Given the description of an element on the screen output the (x, y) to click on. 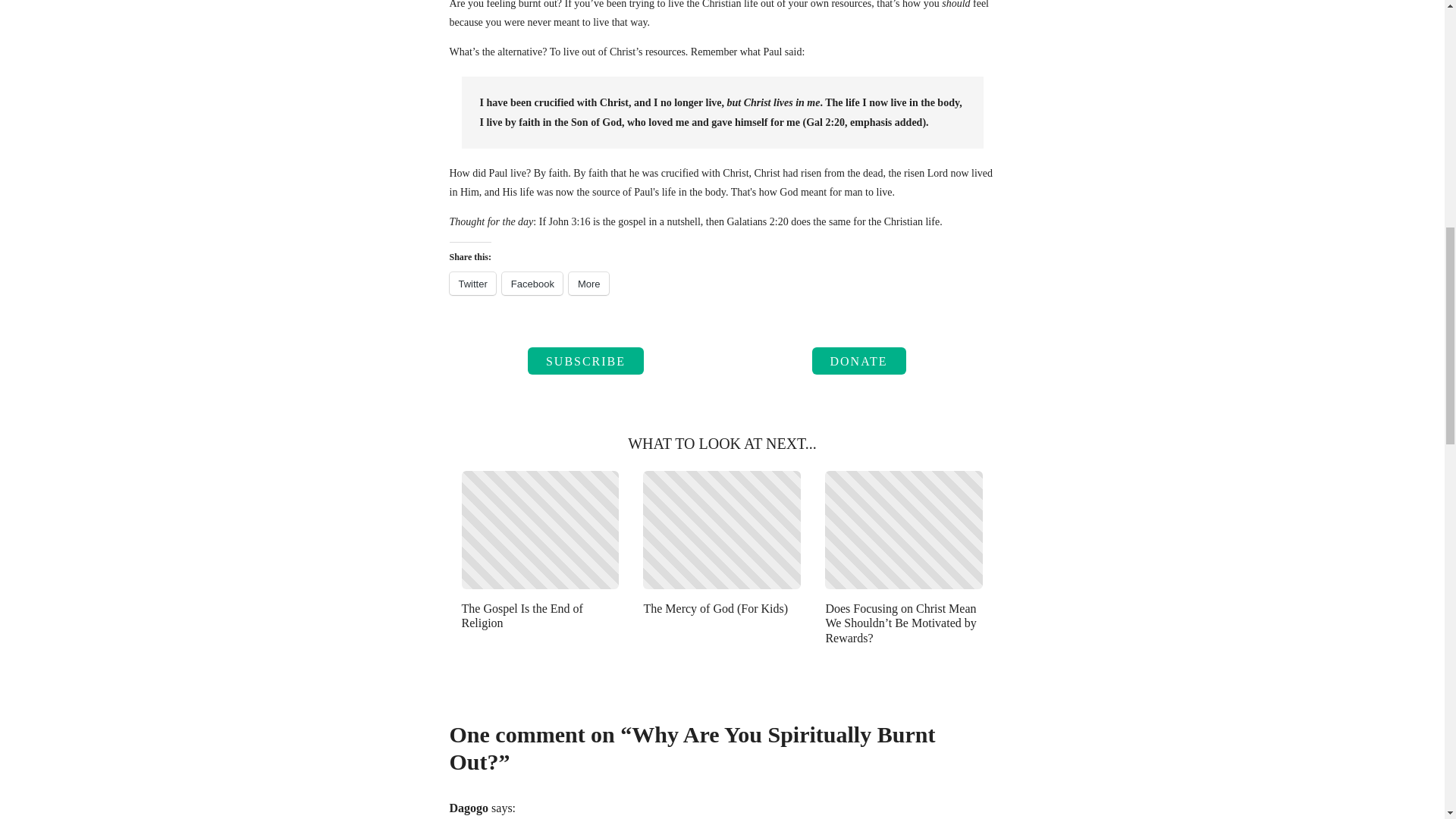
Click to share on Twitter (471, 282)
Click to share on Facebook (532, 282)
